Given the description of an element on the screen output the (x, y) to click on. 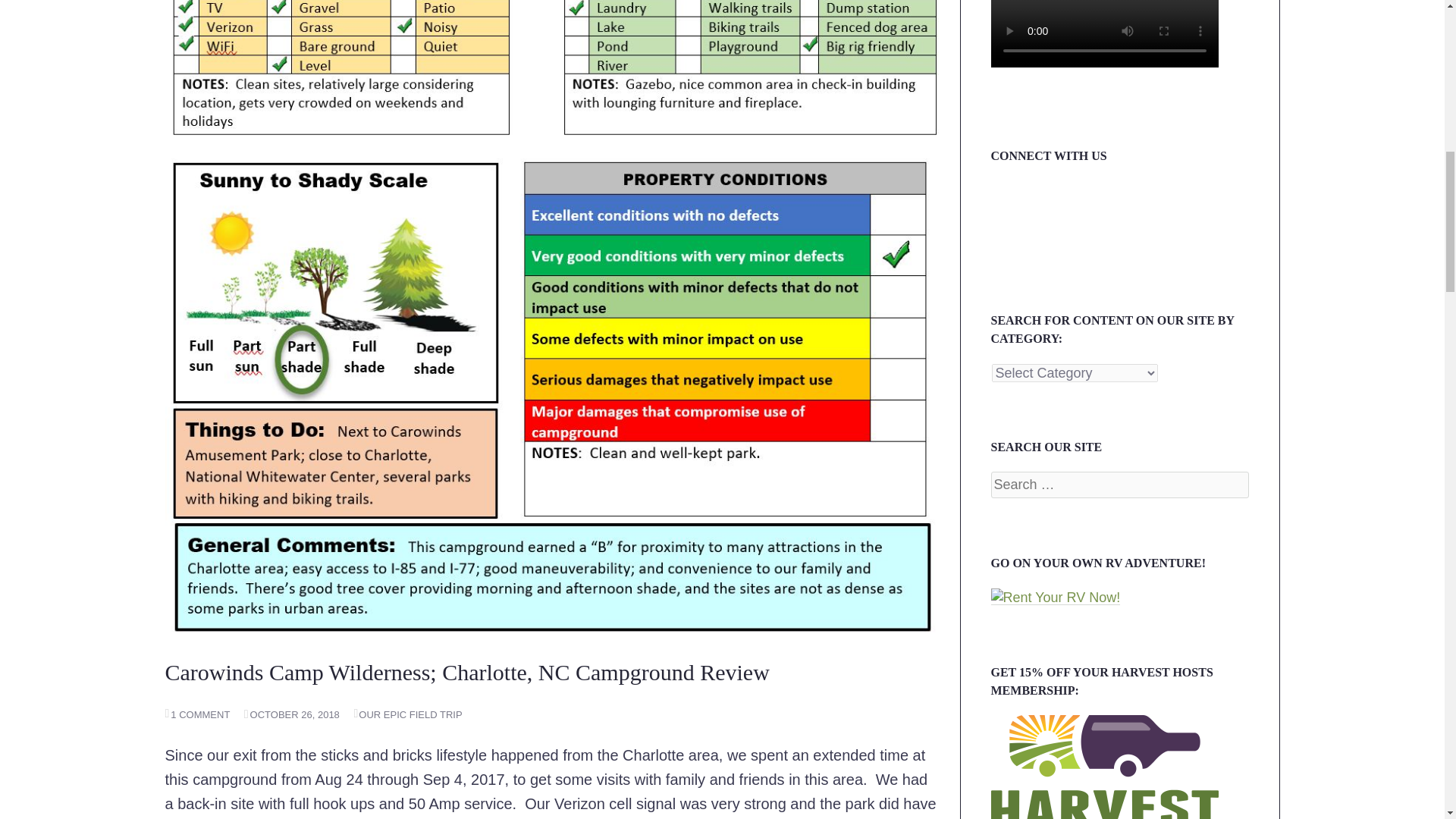
1:31 am (291, 714)
OUR EPIC FIELD TRIP (407, 714)
View all posts by Our Epic Field Trip (407, 714)
1 COMMENT (197, 714)
OCTOBER 26, 2018 (291, 714)
